Given the description of an element on the screen output the (x, y) to click on. 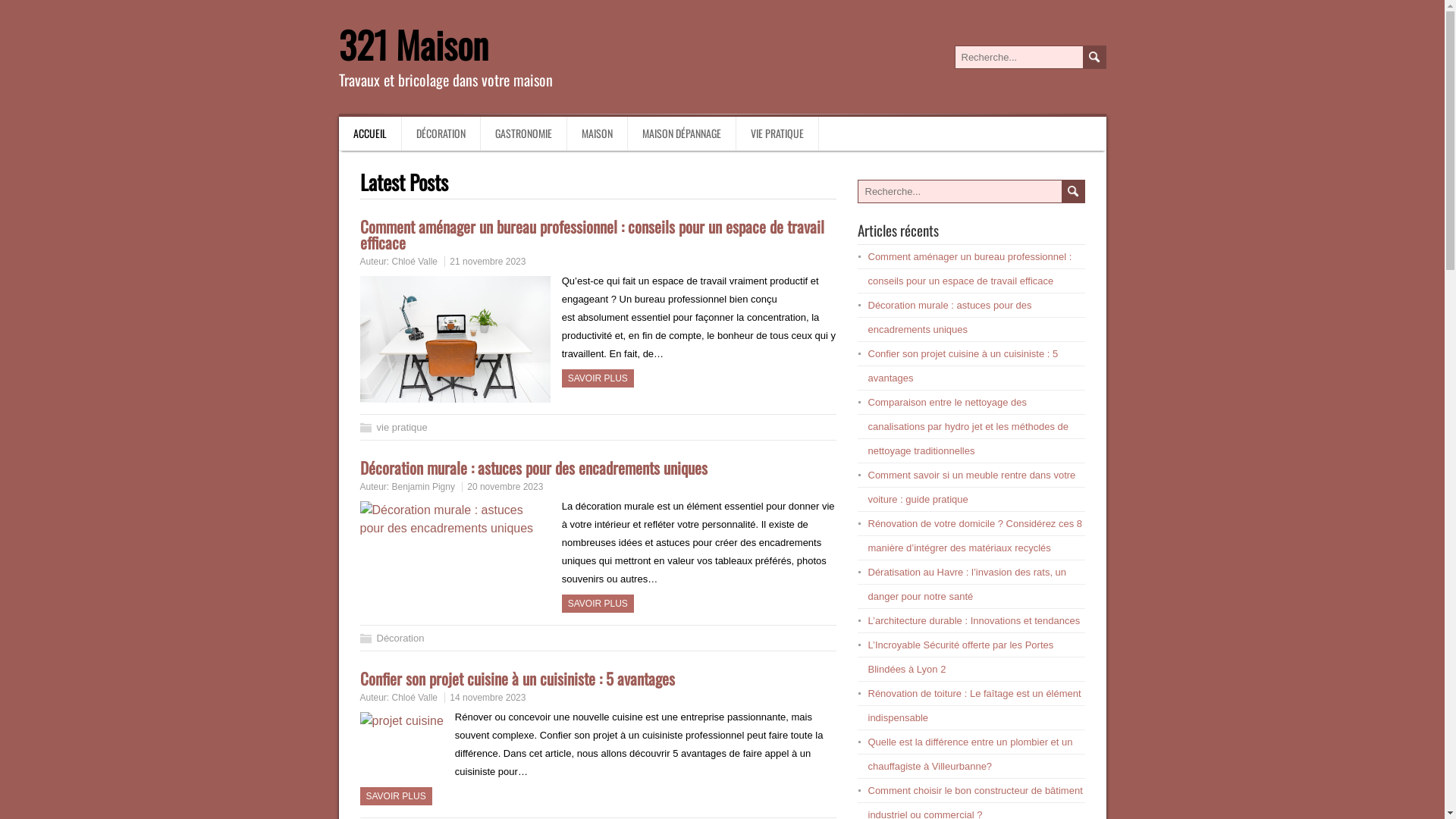
SAVOIR PLUS Element type: text (597, 378)
VIE PRATIQUE Element type: text (776, 133)
MAISON Element type: text (597, 133)
ACCUEIL Element type: text (369, 133)
SAVOIR PLUS Element type: text (597, 603)
21 novembre 2023 Element type: text (487, 261)
SAVOIR PLUS Element type: text (395, 796)
321 Maison Element type: text (412, 44)
20 novembre 2023 Element type: text (504, 486)
14 novembre 2023 Element type: text (487, 697)
vie pratique Element type: text (401, 427)
GASTRONOMIE Element type: text (523, 133)
Benjamin Pigny Element type: text (423, 486)
